Given the description of an element on the screen output the (x, y) to click on. 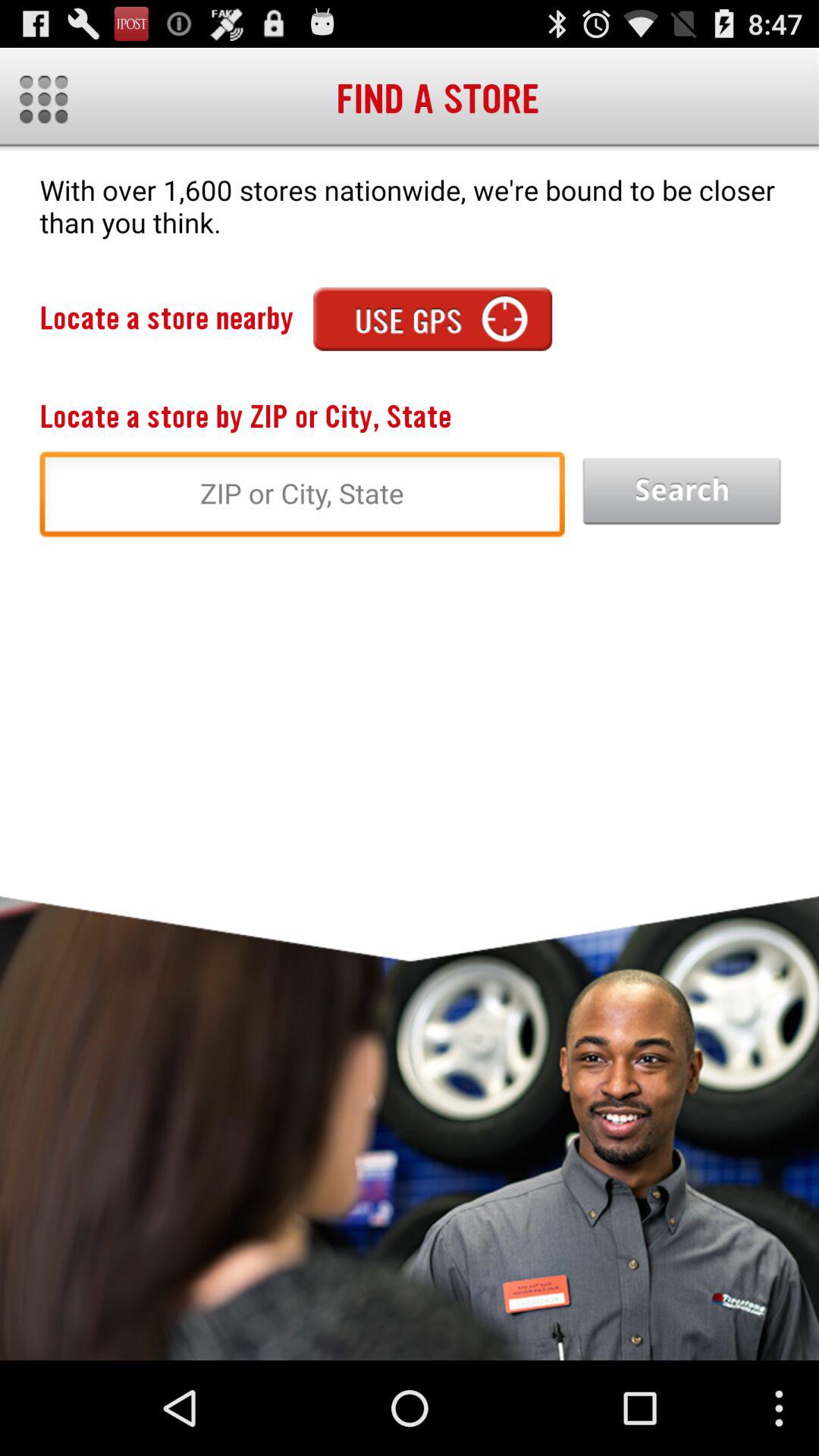
open app above with over 1 (43, 99)
